Given the description of an element on the screen output the (x, y) to click on. 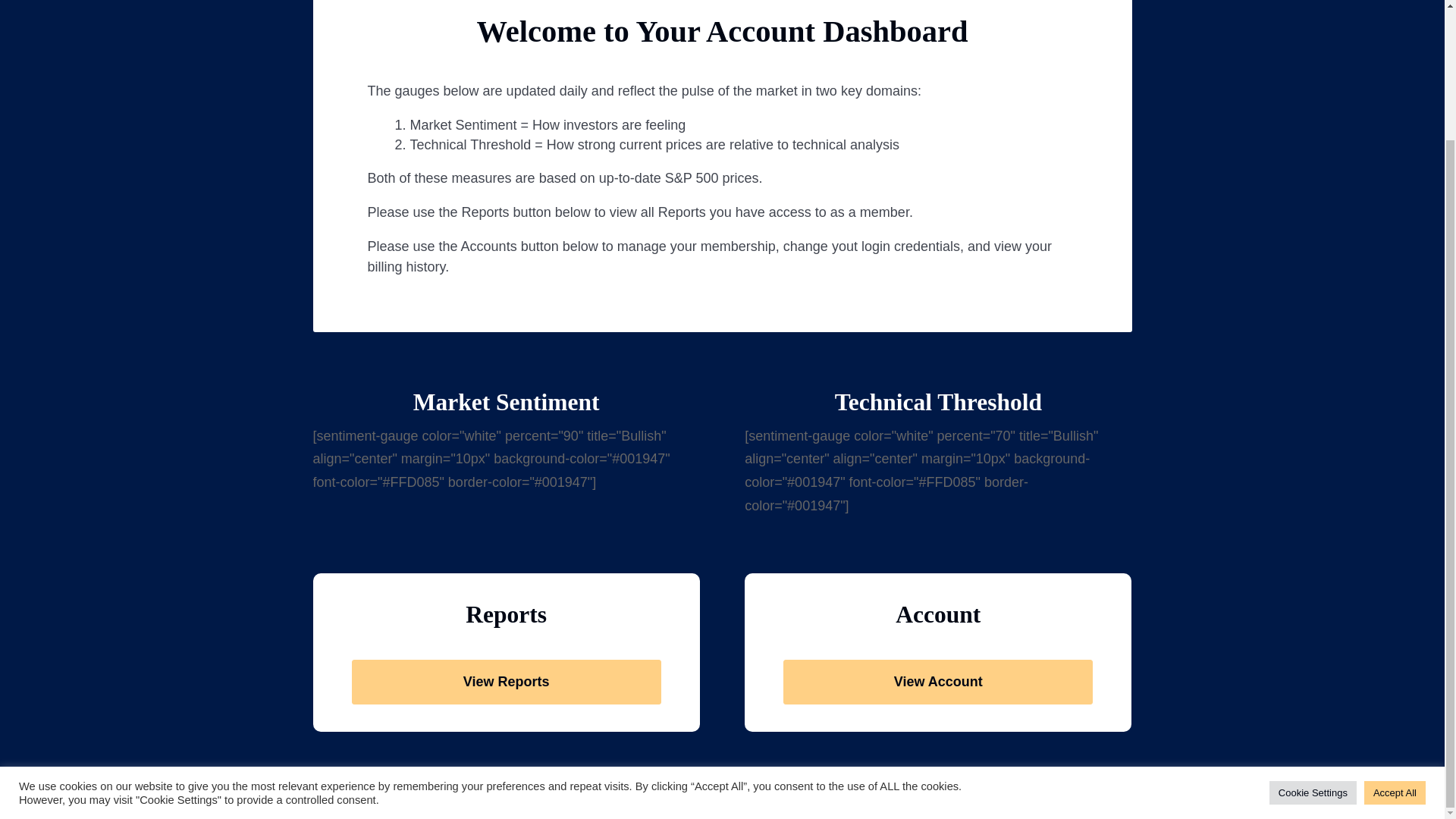
Accept All (1394, 634)
View Reports (506, 682)
View Account (938, 682)
Cookie Settings (1312, 634)
